Given the description of an element on the screen output the (x, y) to click on. 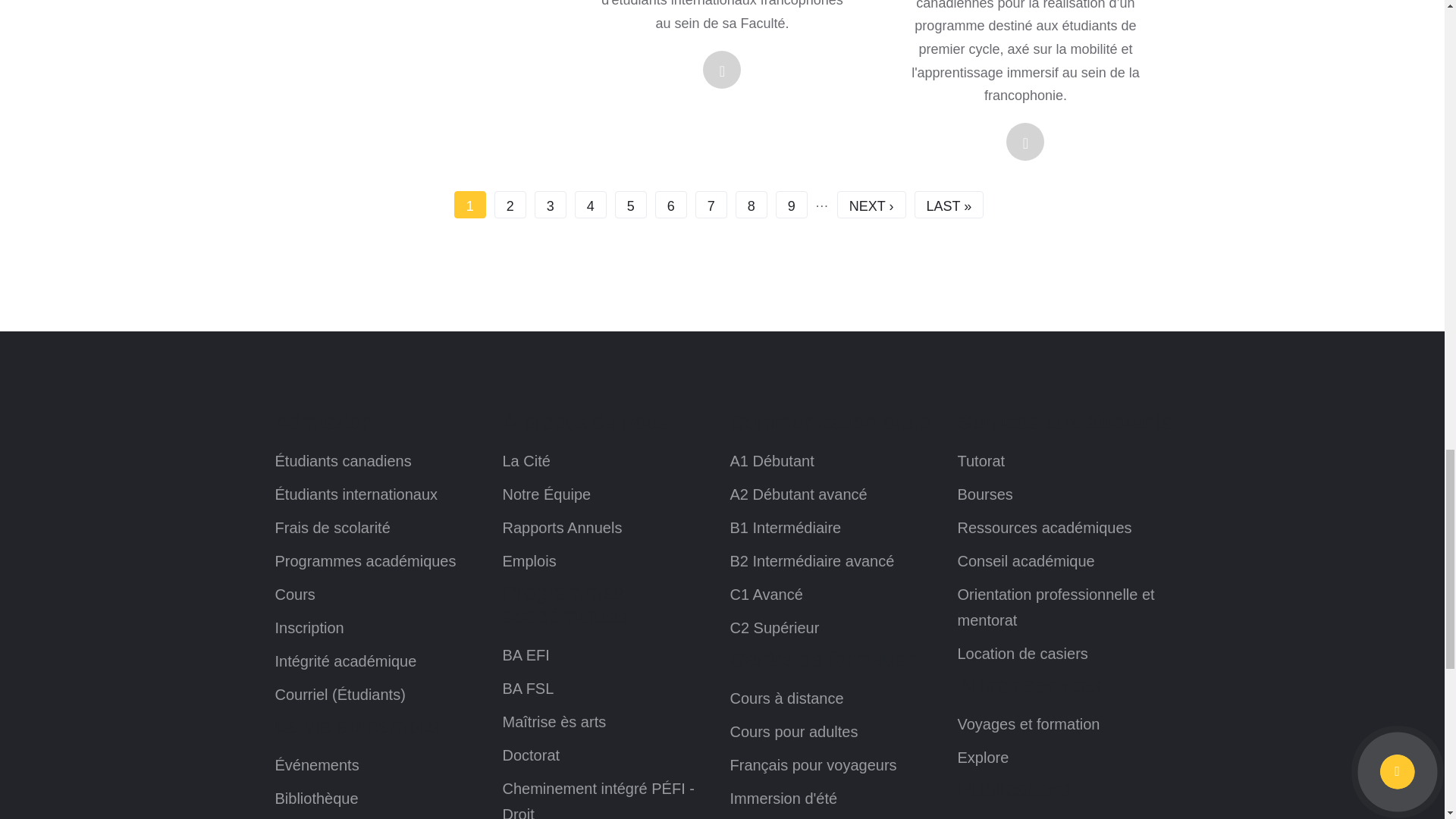
Go to page 5 (630, 204)
Go to page 3 (550, 204)
Go to page 9 (792, 204)
Go to page 6 (671, 204)
Go to page 7 (710, 204)
Go to next page (871, 204)
Go to page 2 (510, 204)
Go to last page (949, 204)
Go to page 8 (751, 204)
Current page (470, 204)
